Given the description of an element on the screen output the (x, y) to click on. 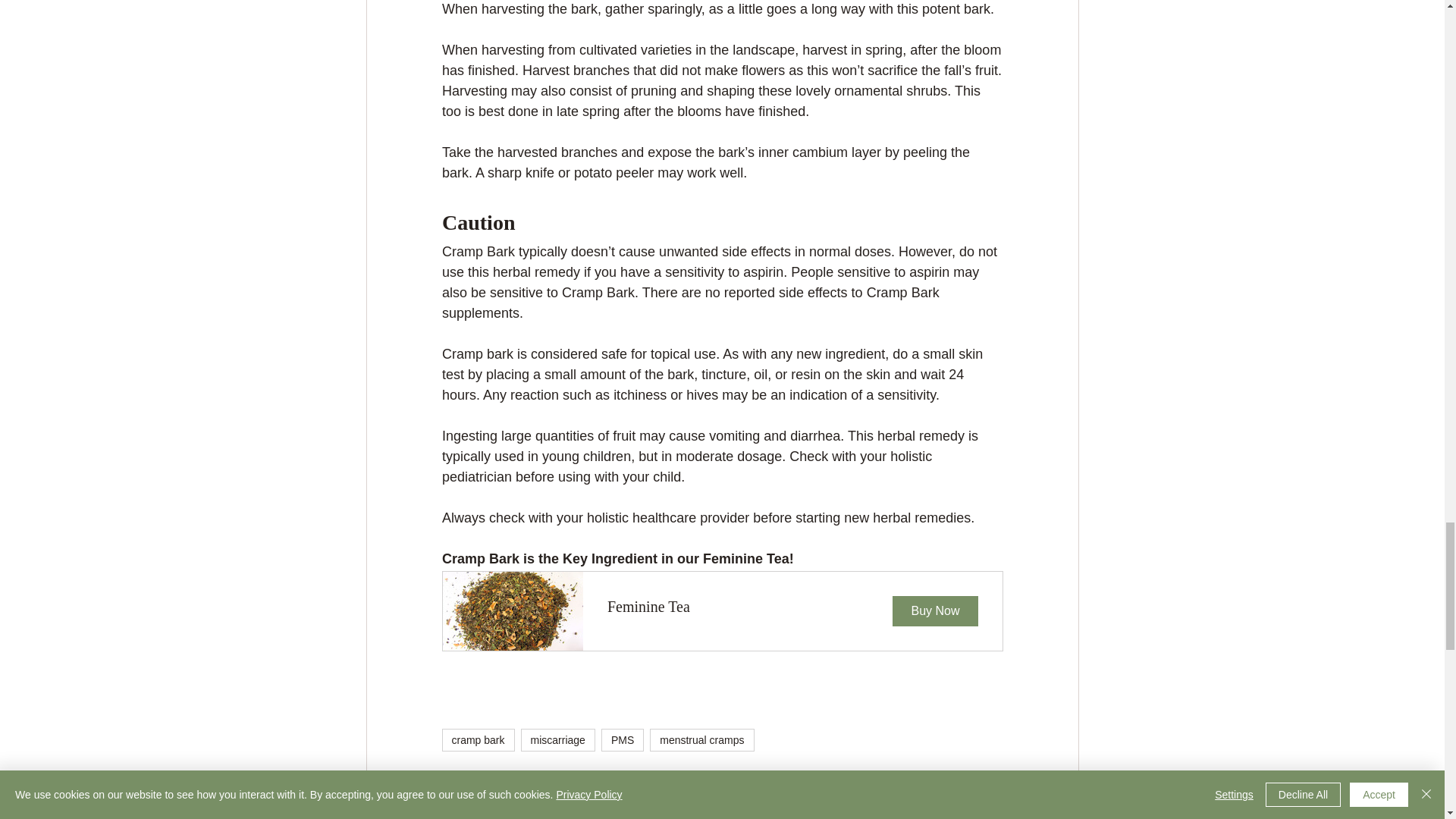
cramp bark (477, 739)
PMS (622, 739)
miscarriage (722, 610)
menstrual cramps (558, 739)
